Given the description of an element on the screen output the (x, y) to click on. 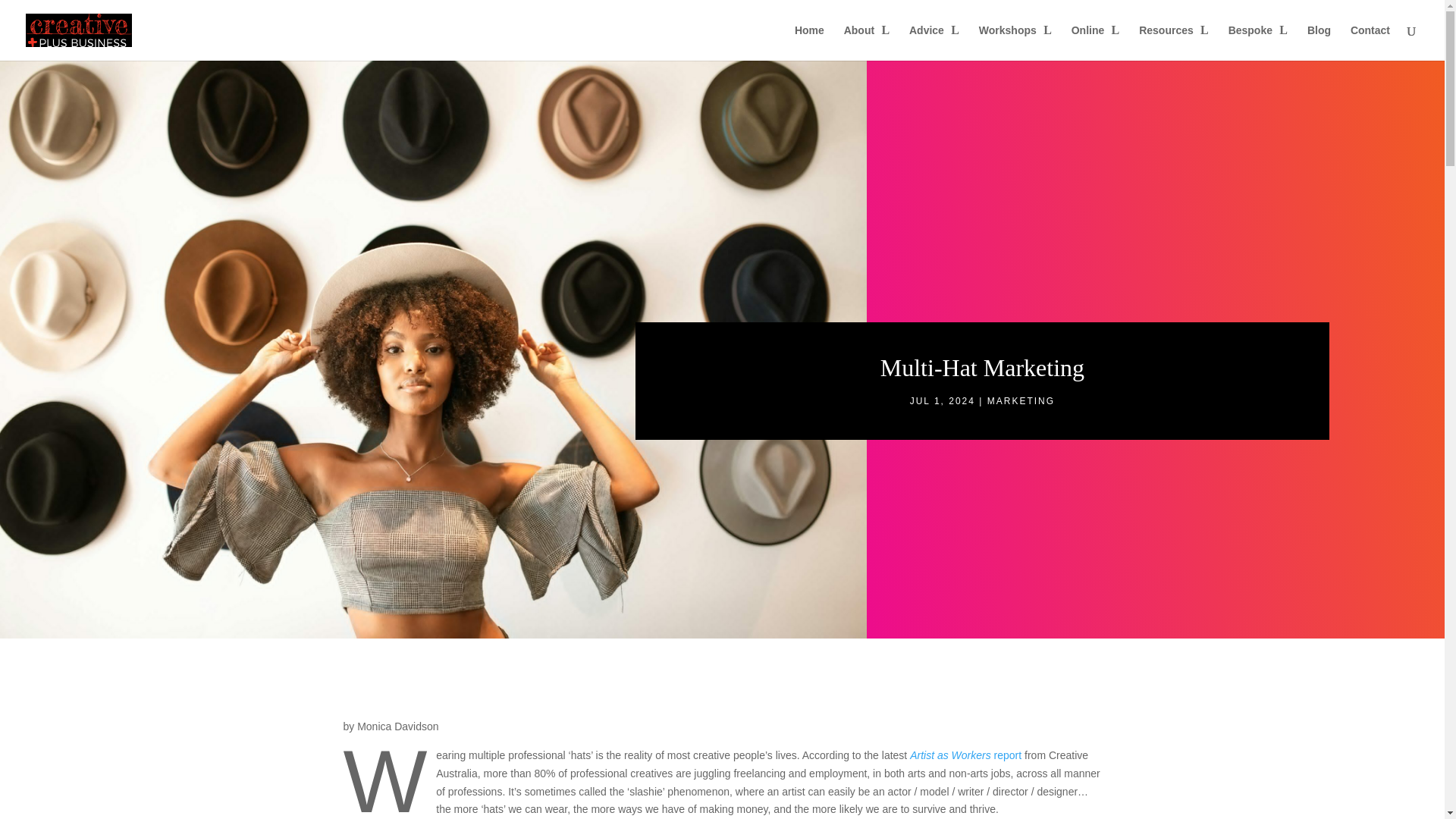
Workshops (1014, 42)
Advice (933, 42)
Resources (1173, 42)
About (866, 42)
Online (1095, 42)
Artist as Workers report (966, 755)
Contact (1370, 42)
MARKETING (1020, 400)
Bespoke (1257, 42)
